Given the description of an element on the screen output the (x, y) to click on. 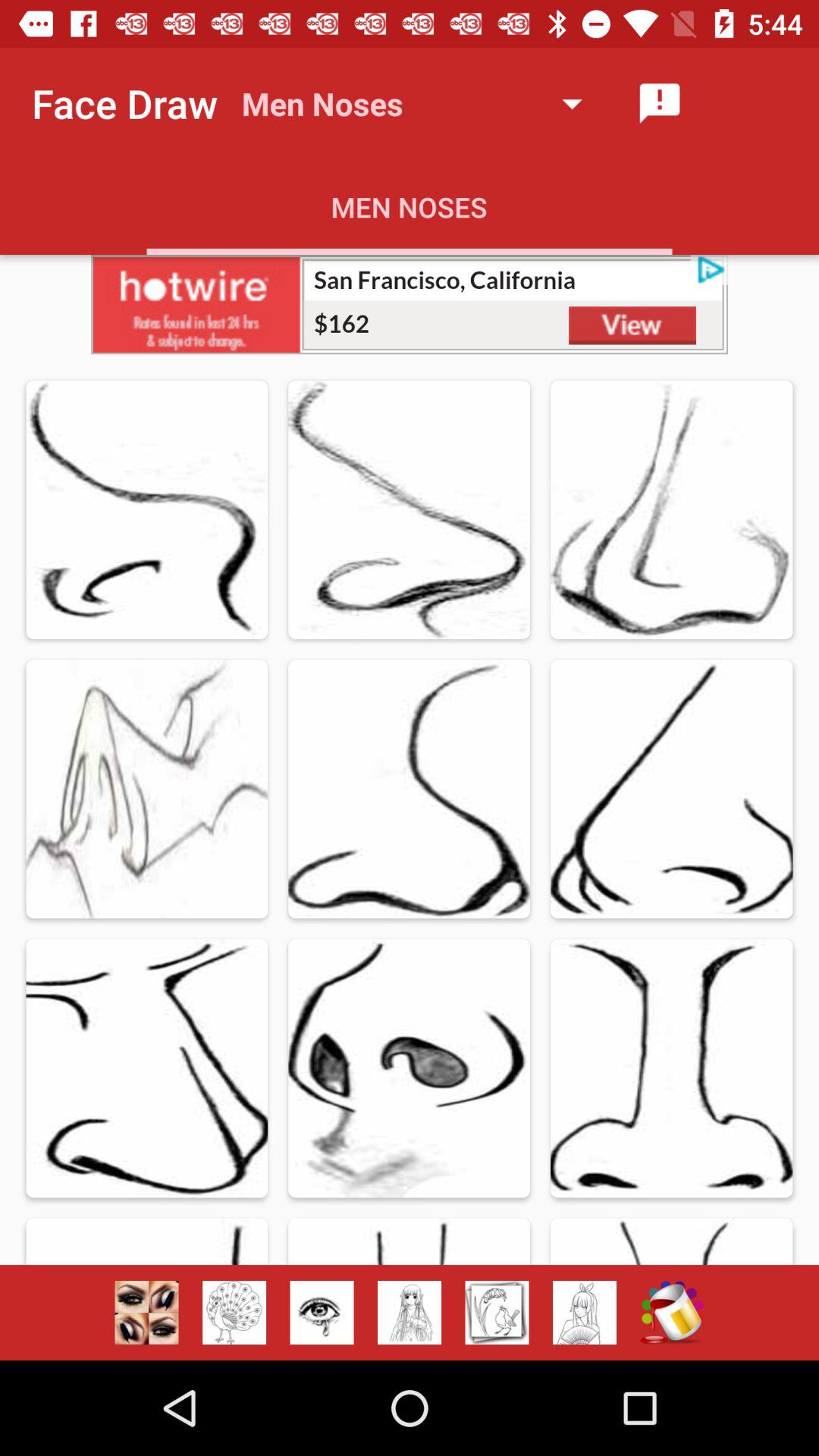
add the picture (409, 304)
